Given the description of an element on the screen output the (x, y) to click on. 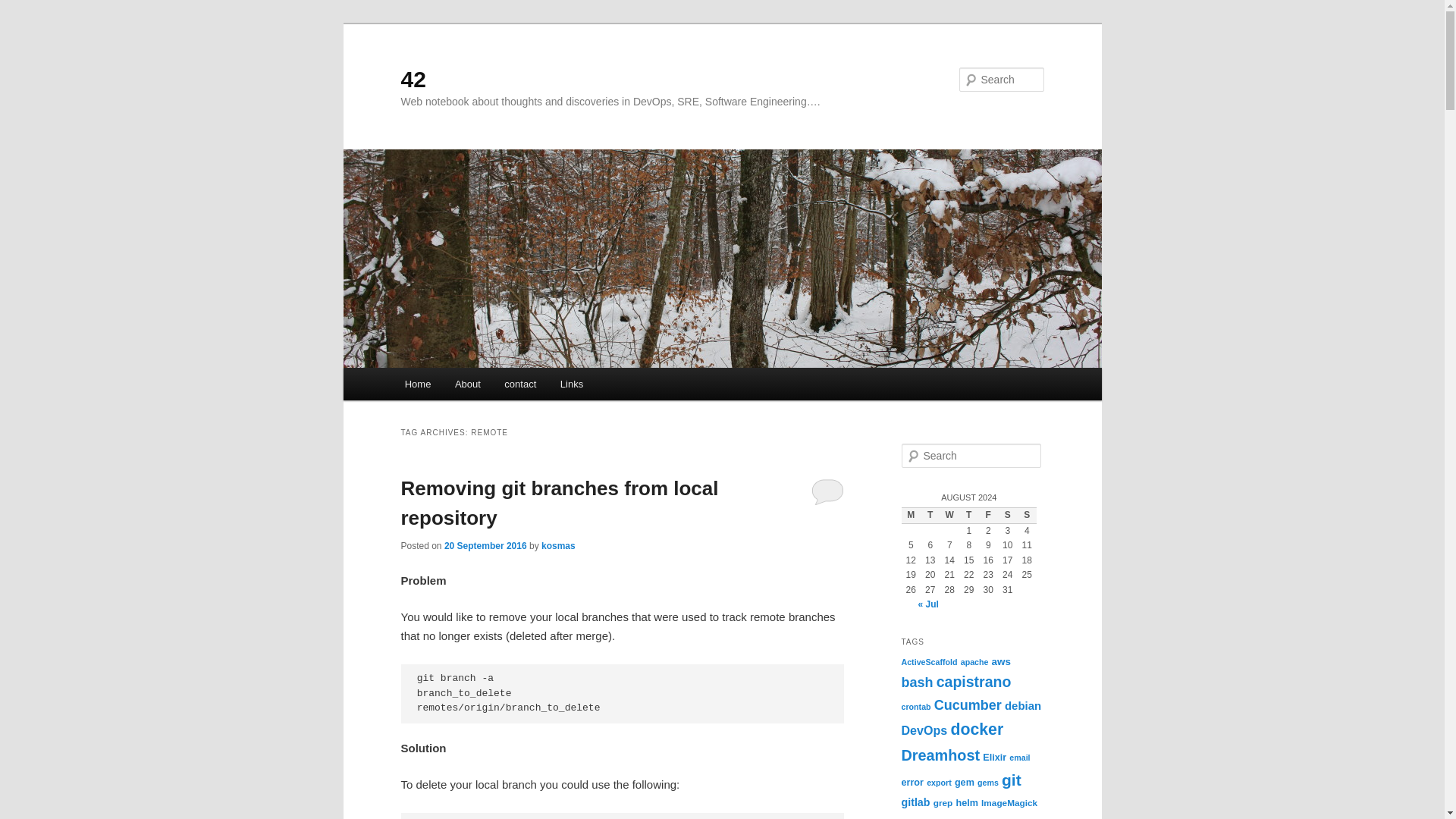
Wednesday (949, 515)
10:45 am (485, 545)
View all posts by kosmas (558, 545)
capistrano (973, 681)
Home (417, 383)
kosmas (558, 545)
Saturday (1007, 515)
Thursday (968, 515)
aws (1000, 661)
